Given the description of an element on the screen output the (x, y) to click on. 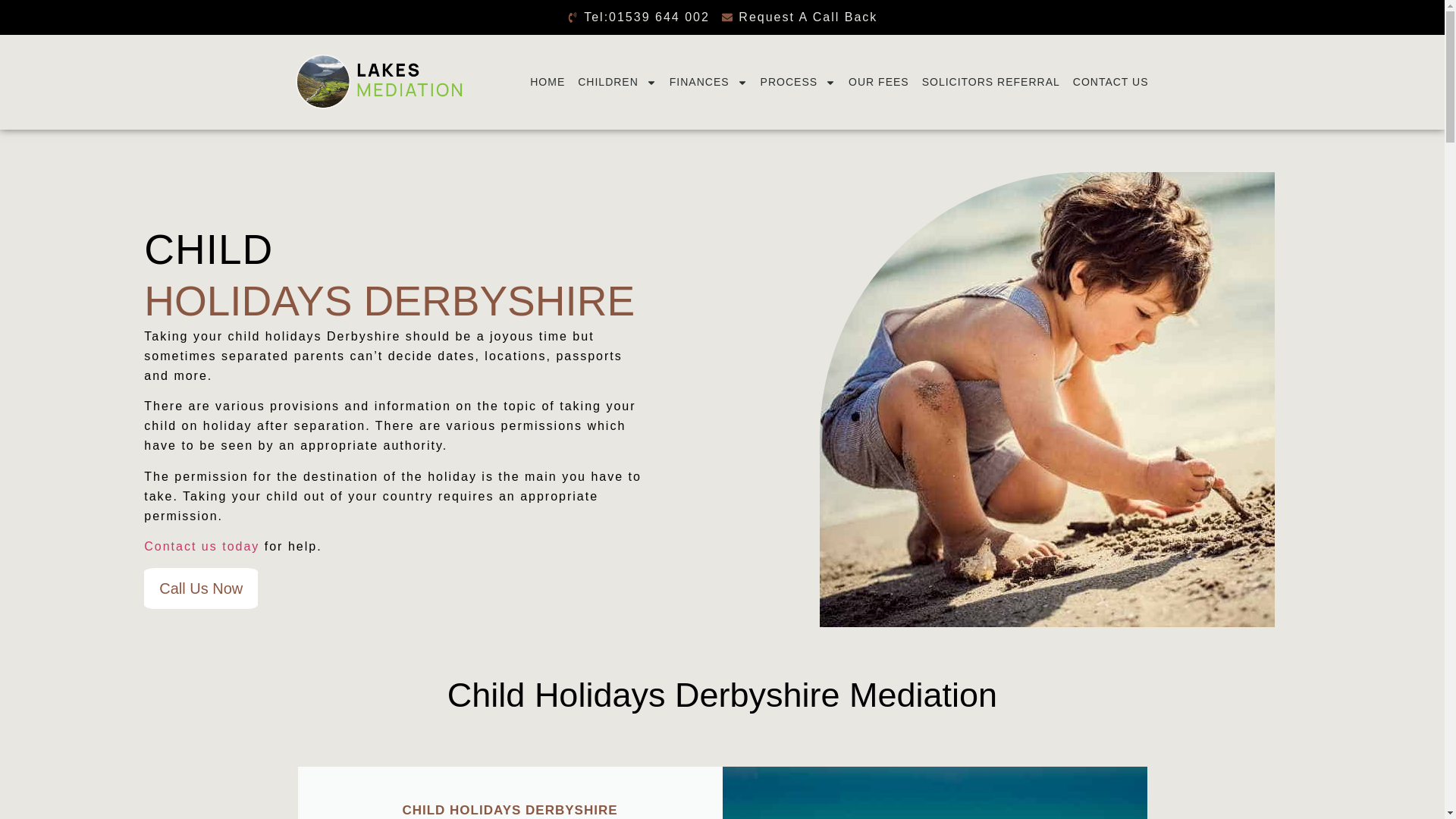
Tel:01539 644 002 (638, 17)
CONTACT US (1110, 82)
CHILDREN (617, 82)
FINANCES (708, 82)
SOLICITORS REFERRAL (990, 82)
PROCESS (797, 82)
Request A Call Back (799, 17)
